Given the description of an element on the screen output the (x, y) to click on. 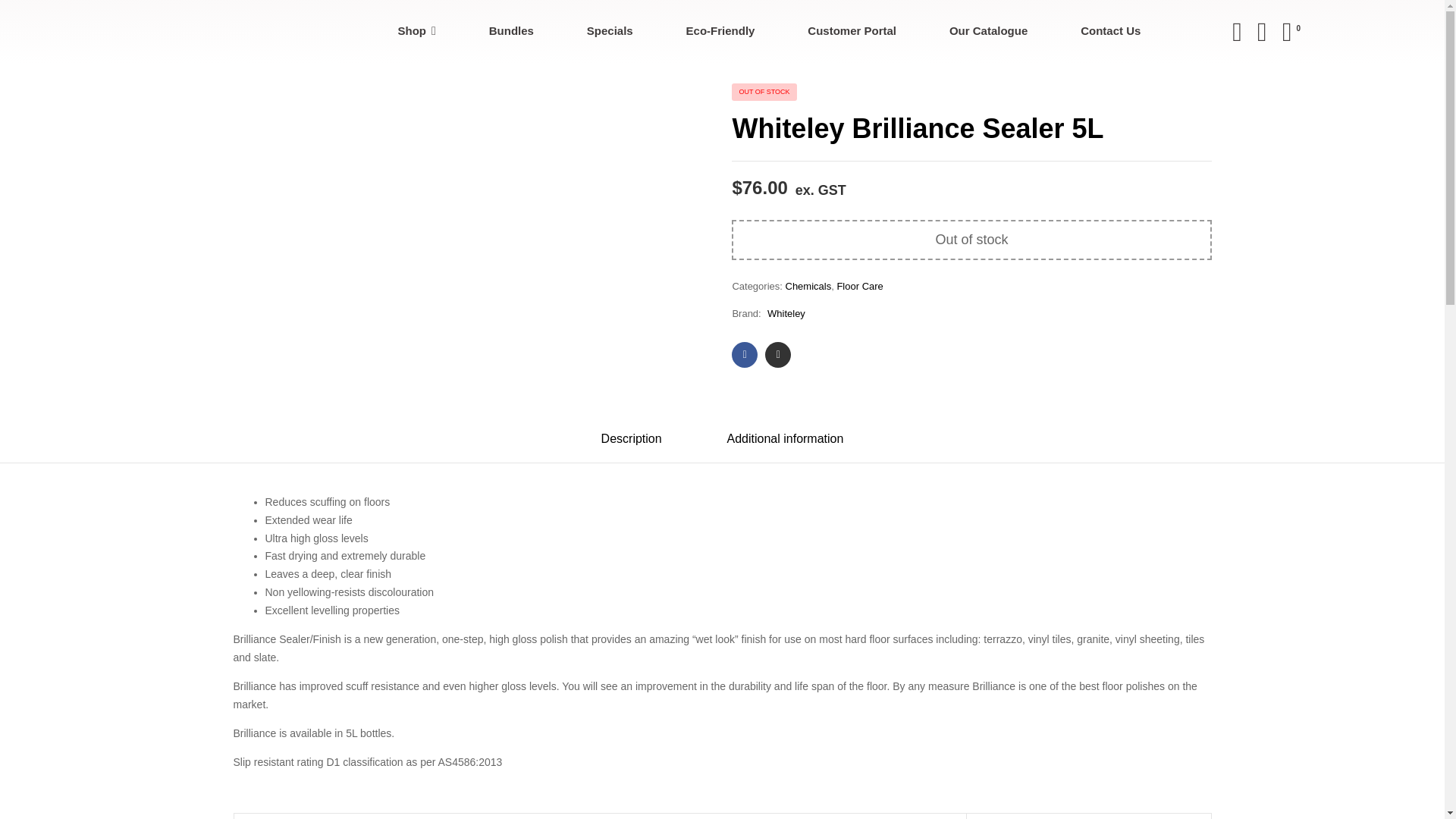
View brand (786, 313)
Email to a Friend (777, 354)
Share on facebook (744, 354)
Shop (416, 32)
